Given the description of an element on the screen output the (x, y) to click on. 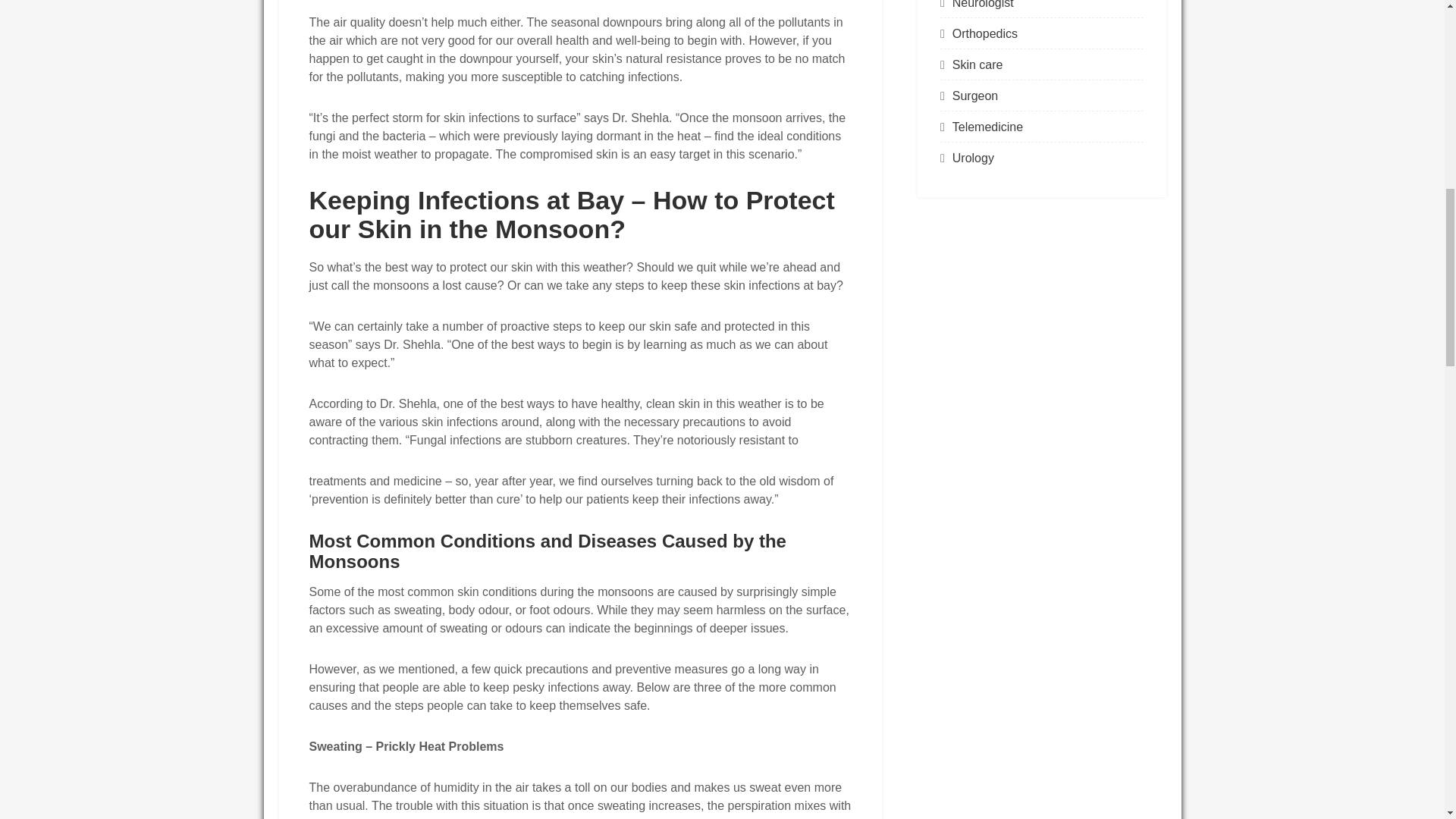
Skin care (977, 64)
Neurologist (982, 4)
Surgeon (975, 95)
Telemedicine (987, 126)
Orthopedics (984, 33)
